Given the description of an element on the screen output the (x, y) to click on. 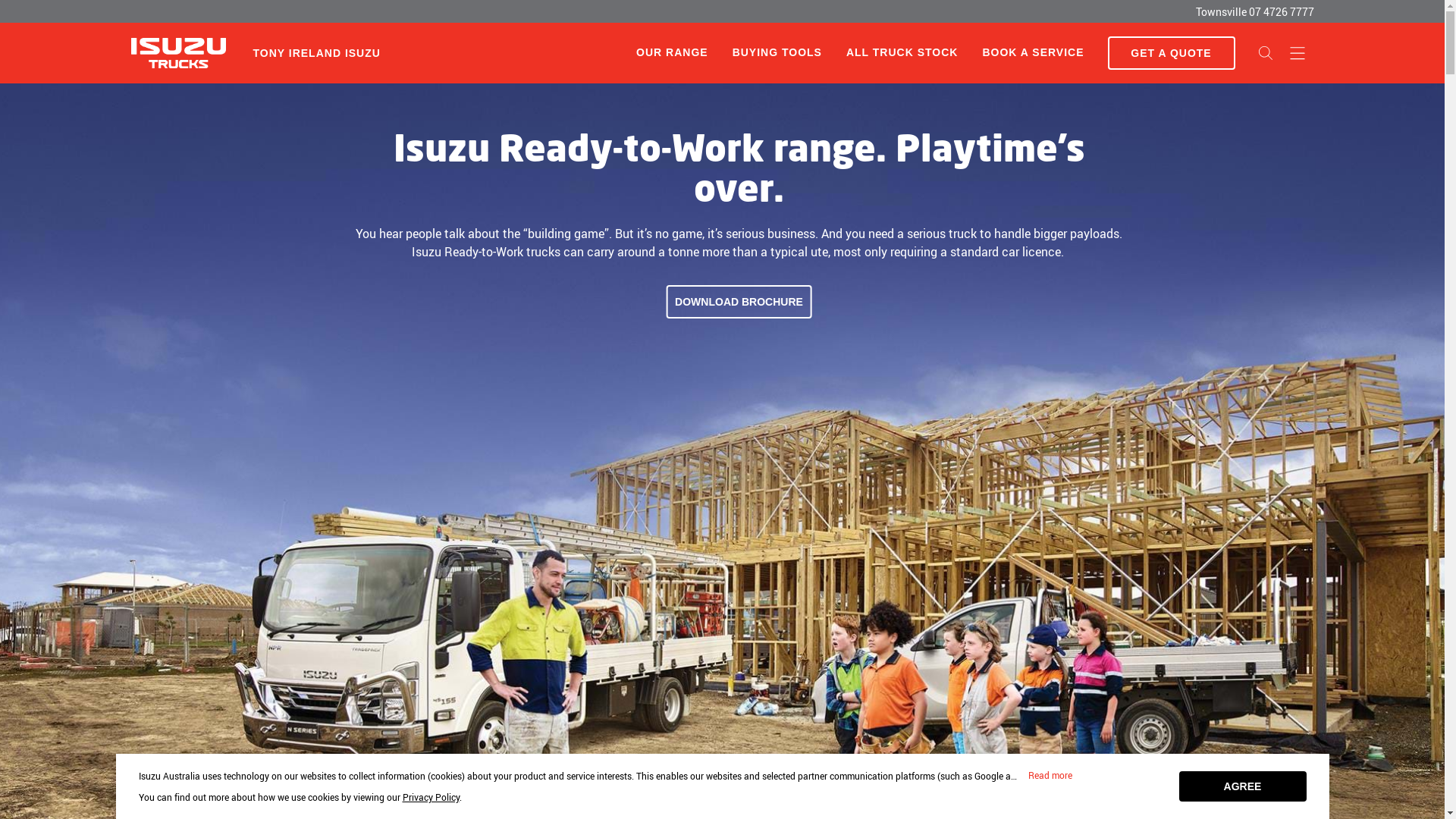
AGREE Element type: text (1241, 786)
BUYING TOOLS Element type: text (777, 52)
ALL TRUCK STOCK Element type: text (901, 52)
OUR RANGE Element type: text (672, 52)
Privacy Policy Element type: text (429, 796)
Read more Element type: text (1049, 775)
BOOK A SERVICE Element type: text (1032, 52)
GET A QUOTE Element type: text (1170, 52)
DOWNLOAD BROCHURE Element type: text (738, 301)
07 4726 7777 Element type: text (1280, 11)
